Given the description of an element on the screen output the (x, y) to click on. 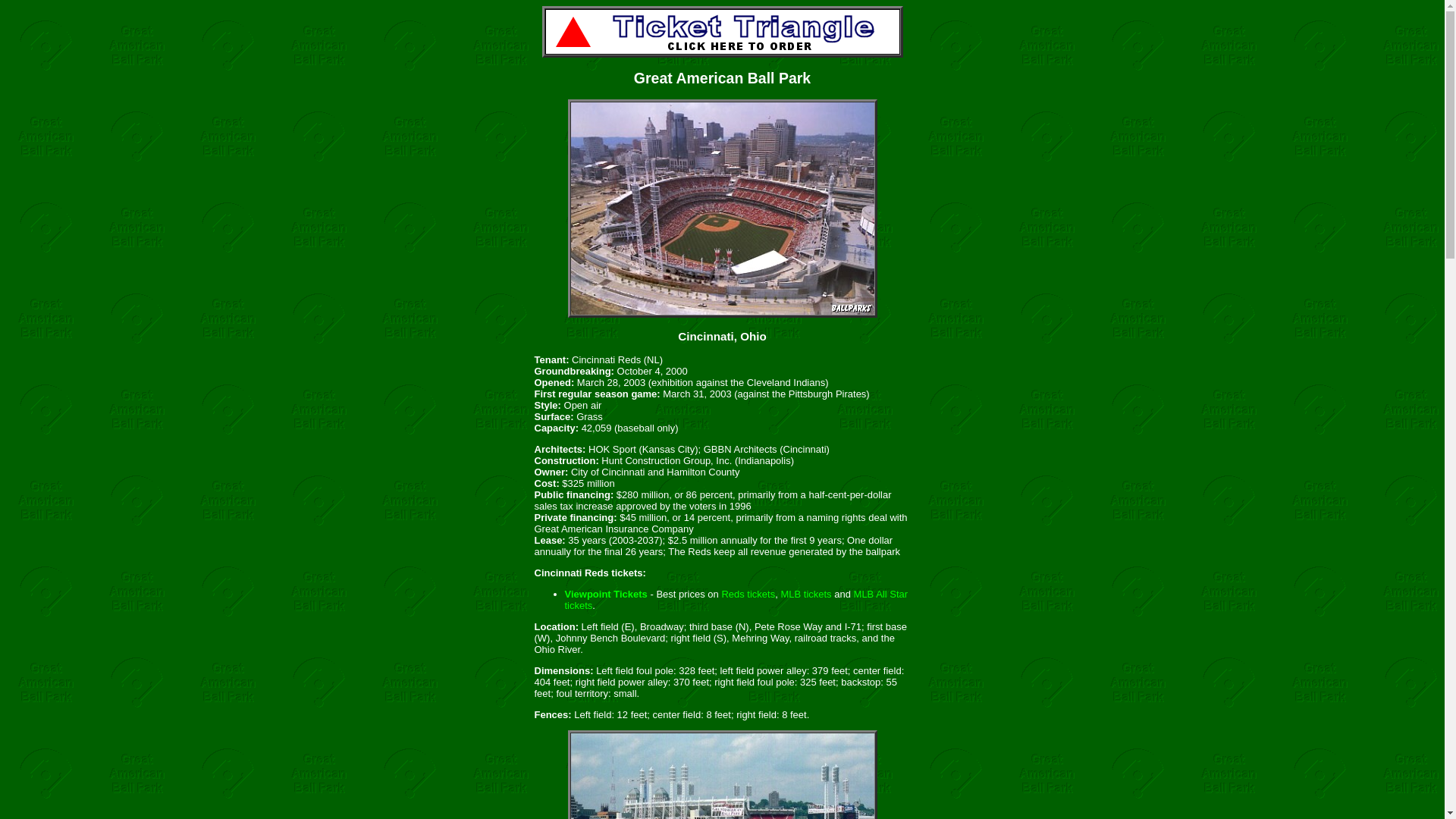
MLB All Star tickets (735, 599)
Viewpoint Tickets (605, 593)
MLB tickets (805, 593)
Reds tickets (747, 593)
